Given the description of an element on the screen output the (x, y) to click on. 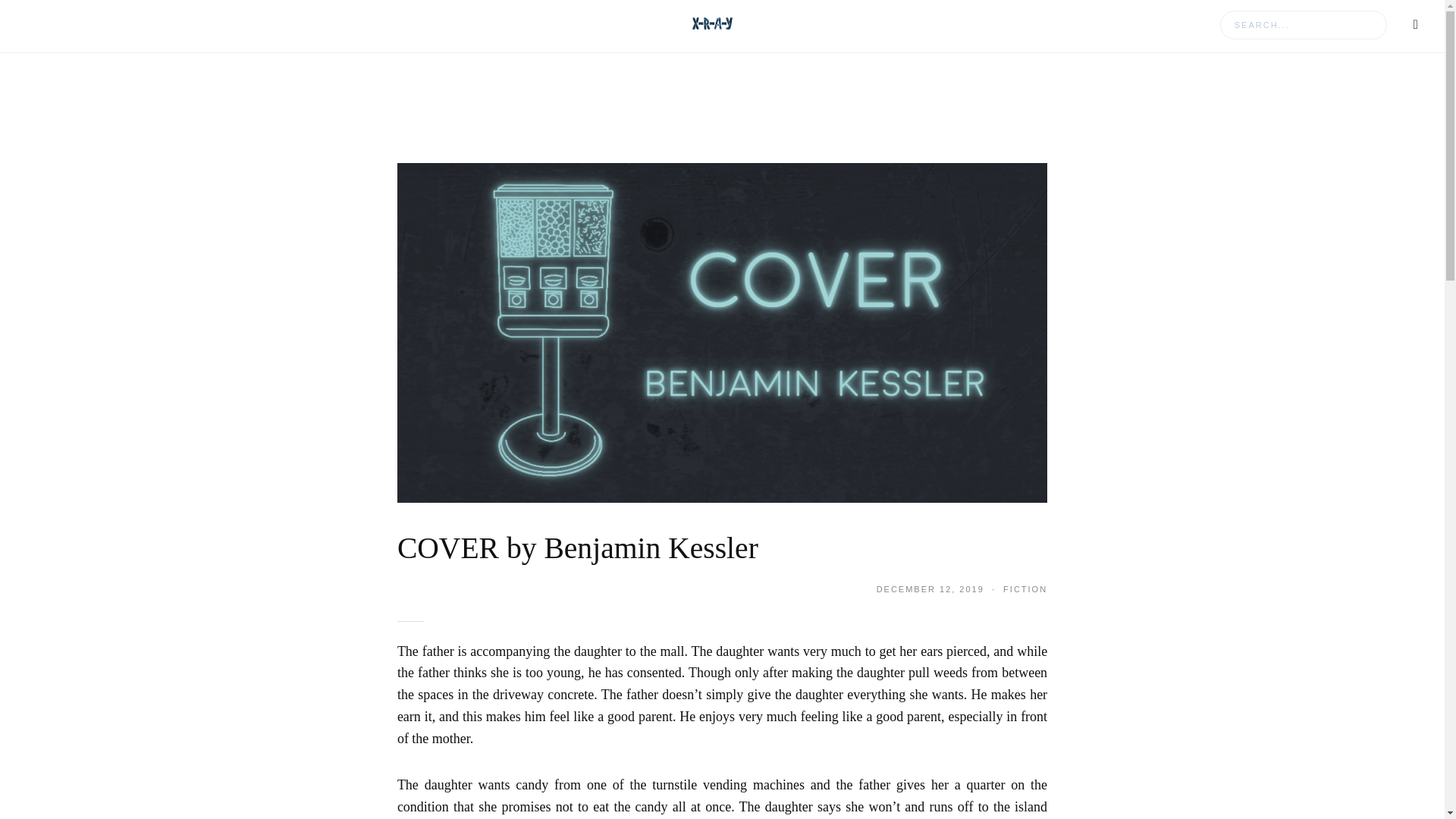
COVER by Benjamin Kessler (577, 548)
Search (38, 18)
COVER by Benjamin Kessler (577, 548)
COVER by Benjamin Kessler (721, 331)
